Given the description of an element on the screen output the (x, y) to click on. 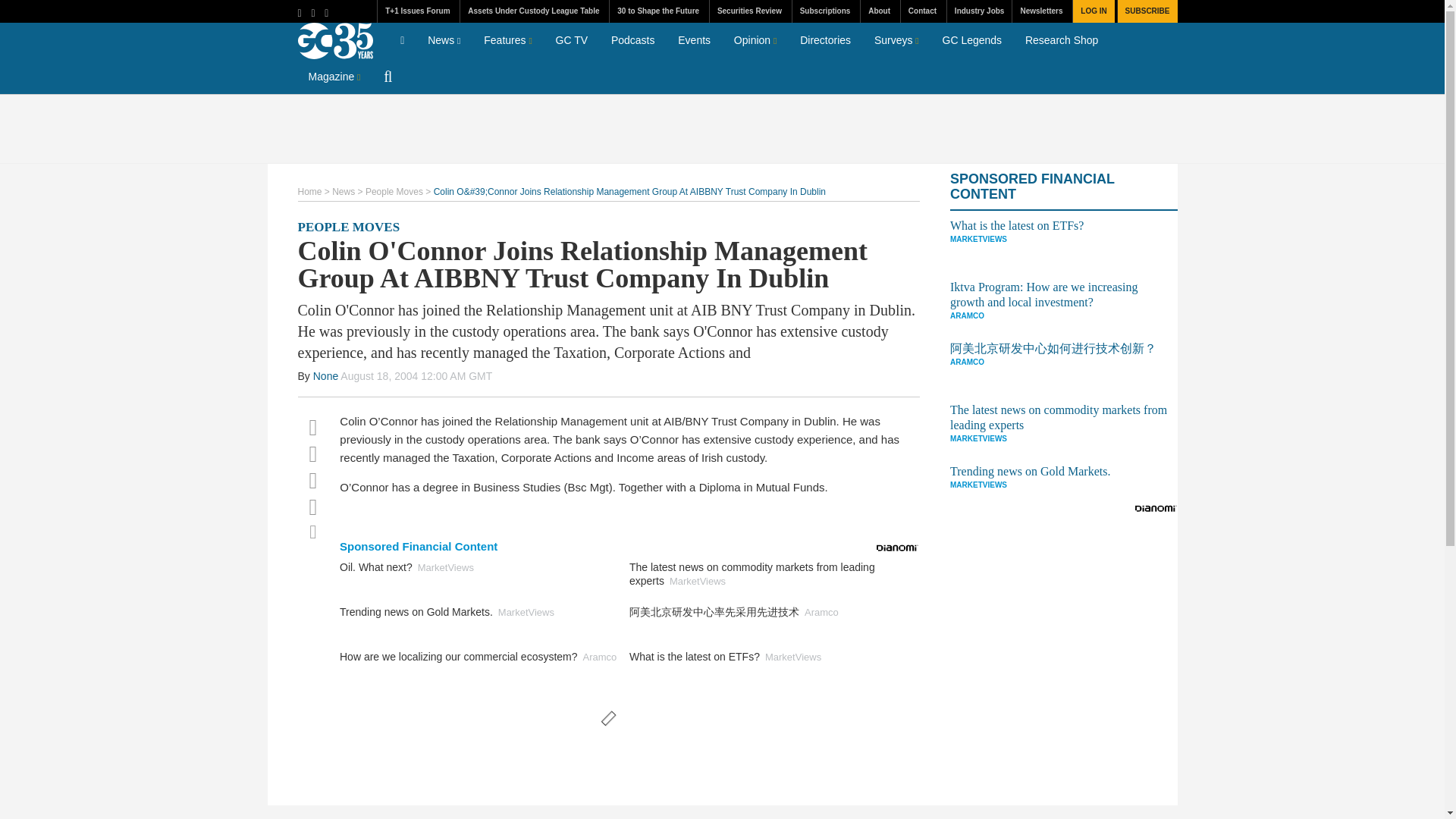
Newsletters (1040, 11)
About (879, 11)
Subscriptions (825, 11)
Securities Review (749, 11)
3rd party ad content (721, 128)
Go to the News category archives. (343, 191)
30 to Shape the Future (657, 11)
LOG IN (1092, 11)
SUBSCRIBE (1146, 11)
Assets Under Custody League Table (533, 11)
Go to the People Moves category archives. (394, 191)
Industry Jobs (978, 11)
Contact (921, 11)
Go to Global Custodian. (309, 191)
